Given the description of an element on the screen output the (x, y) to click on. 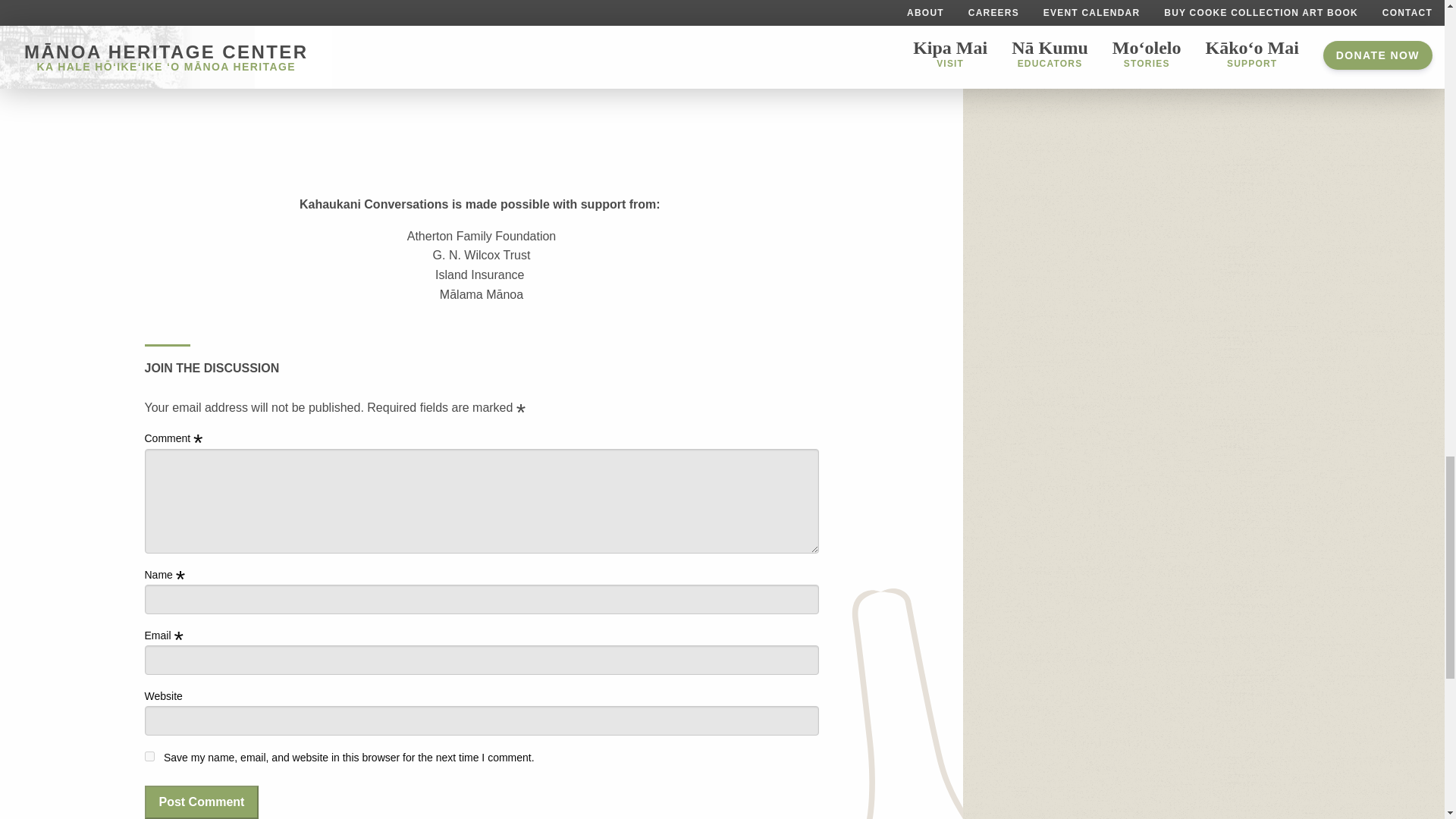
Post Comment (201, 802)
Post Comment (201, 802)
yes (149, 756)
